Given the description of an element on the screen output the (x, y) to click on. 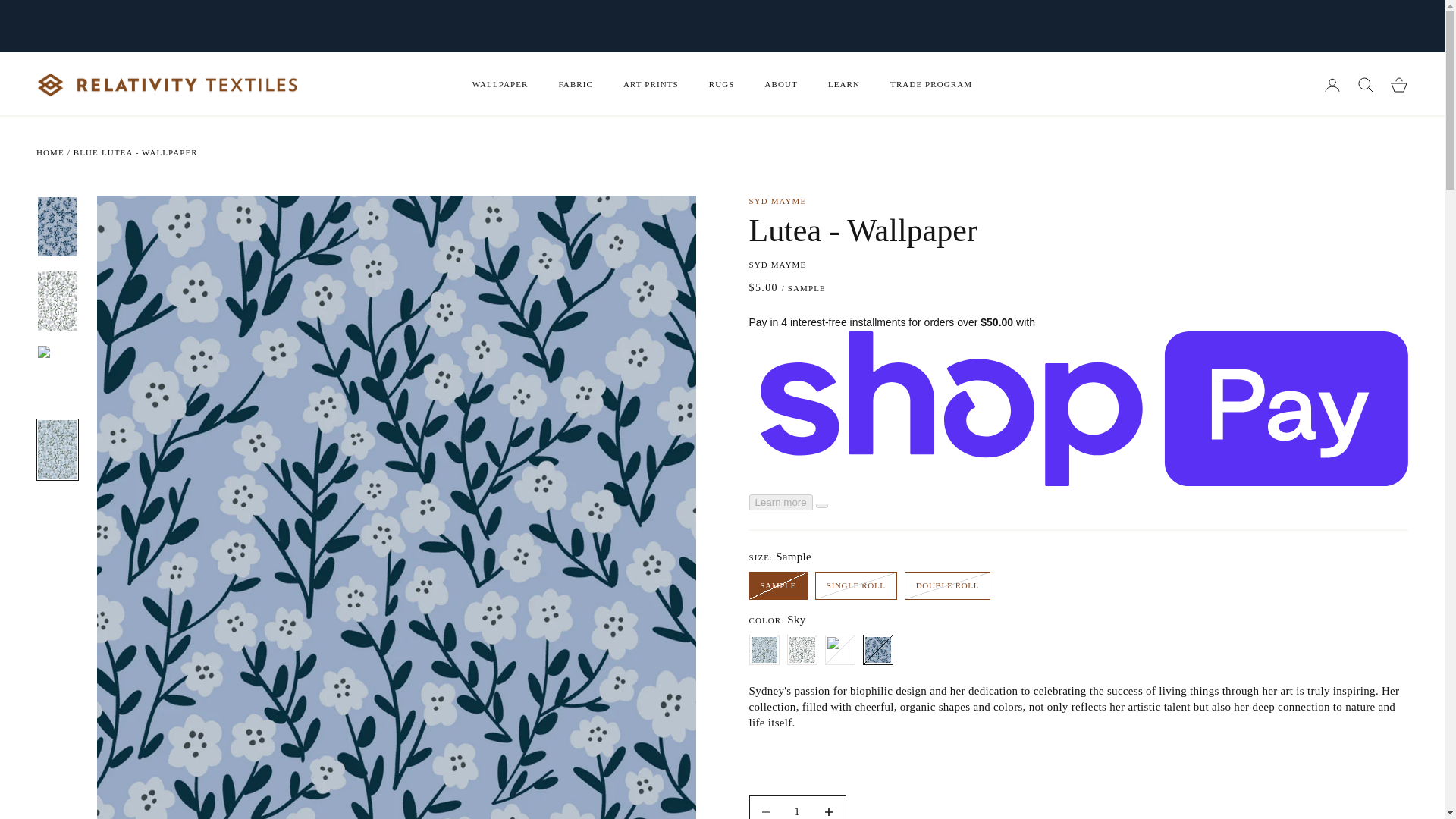
Relativity Textiles (167, 84)
RUGS (722, 84)
ART PRINTS (650, 84)
FABRIC (574, 84)
1 (797, 807)
